Given the description of an element on the screen output the (x, y) to click on. 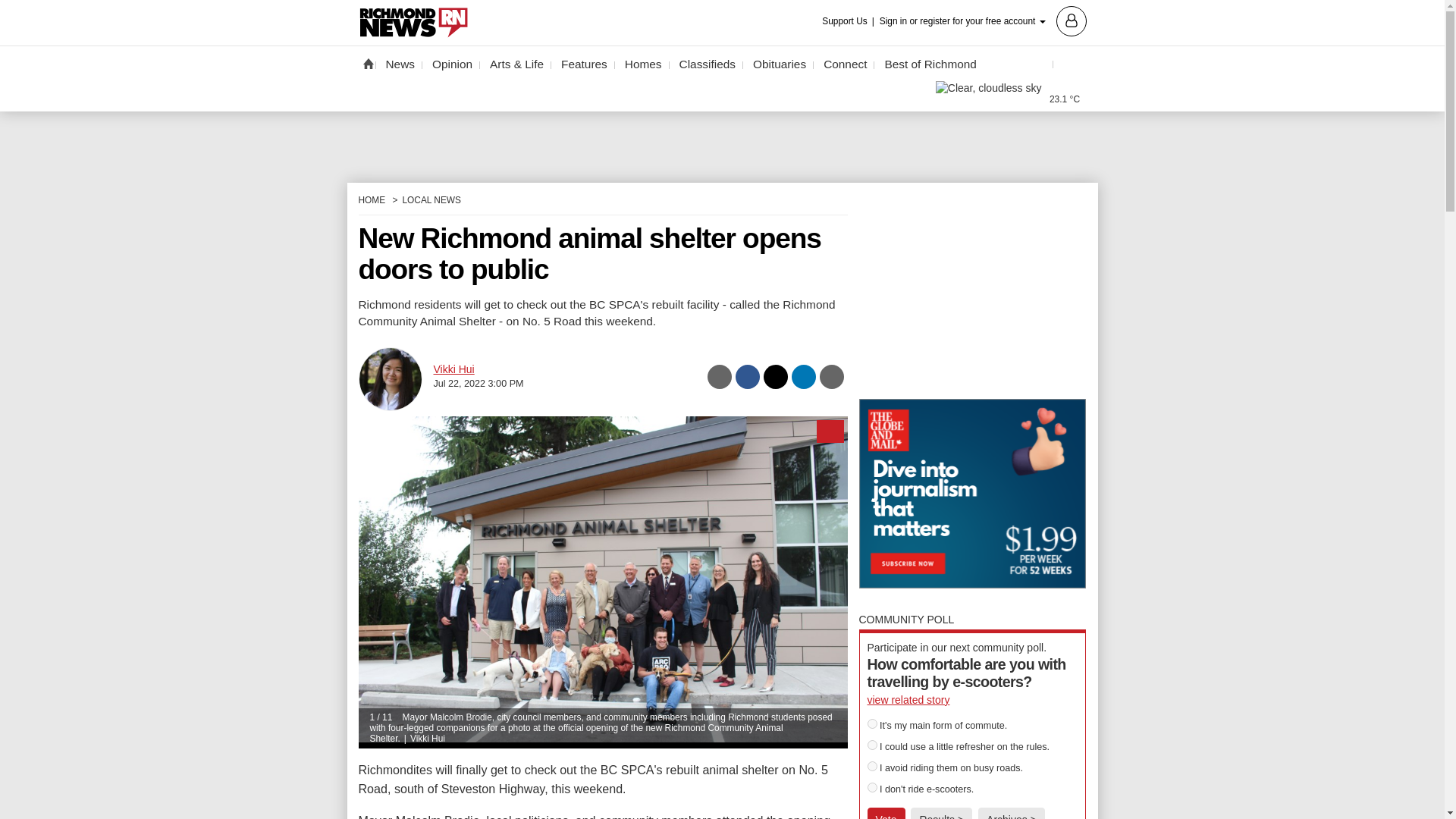
121472 (872, 745)
121474 (872, 787)
121473 (872, 766)
121471 (872, 723)
News (400, 64)
Sign in or register for your free account (982, 20)
Support Us (849, 21)
Expand (829, 431)
Home (367, 63)
Opinion (452, 64)
